Given the description of an element on the screen output the (x, y) to click on. 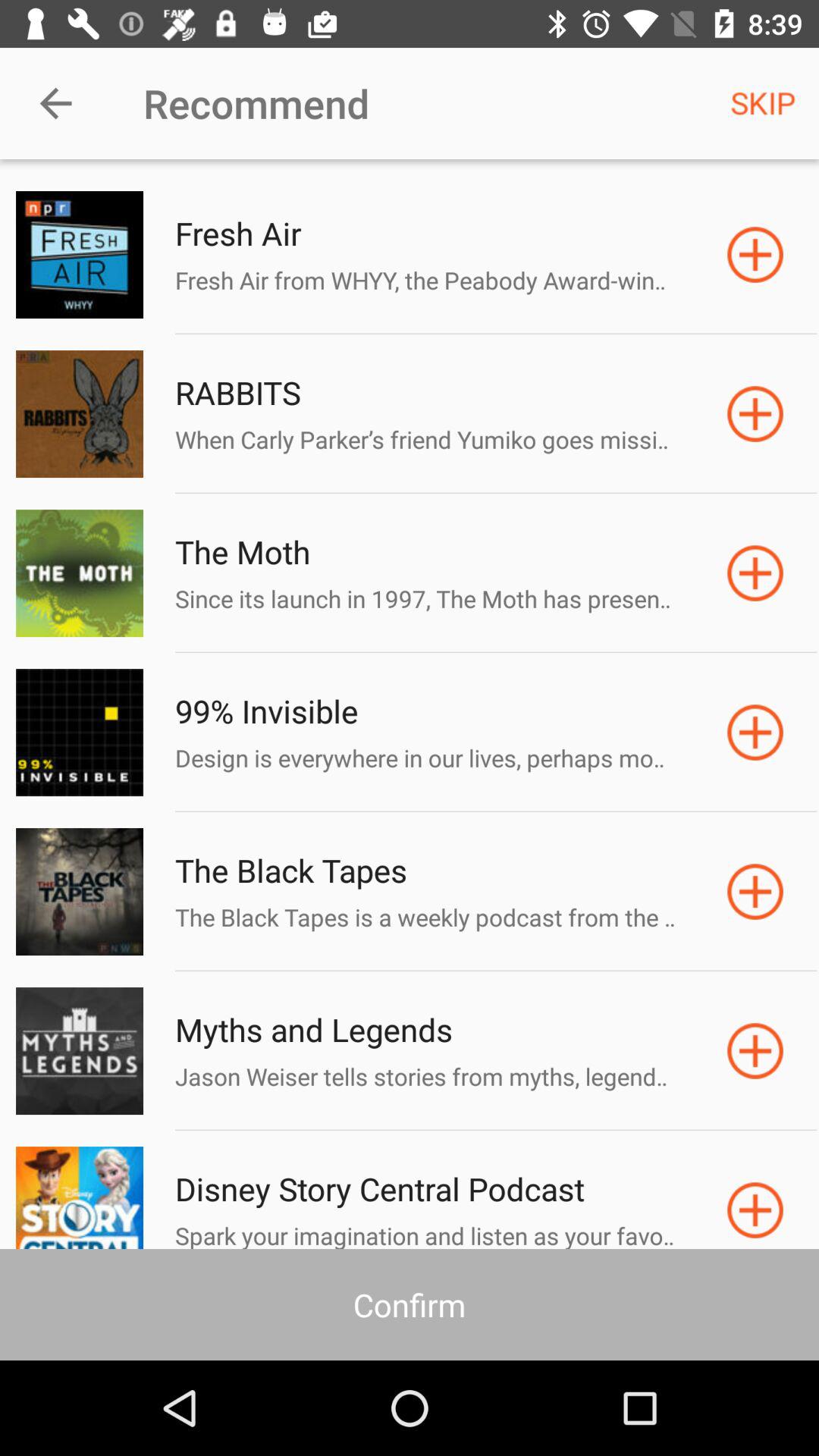
choose the confirm icon (409, 1304)
